Given the description of an element on the screen output the (x, y) to click on. 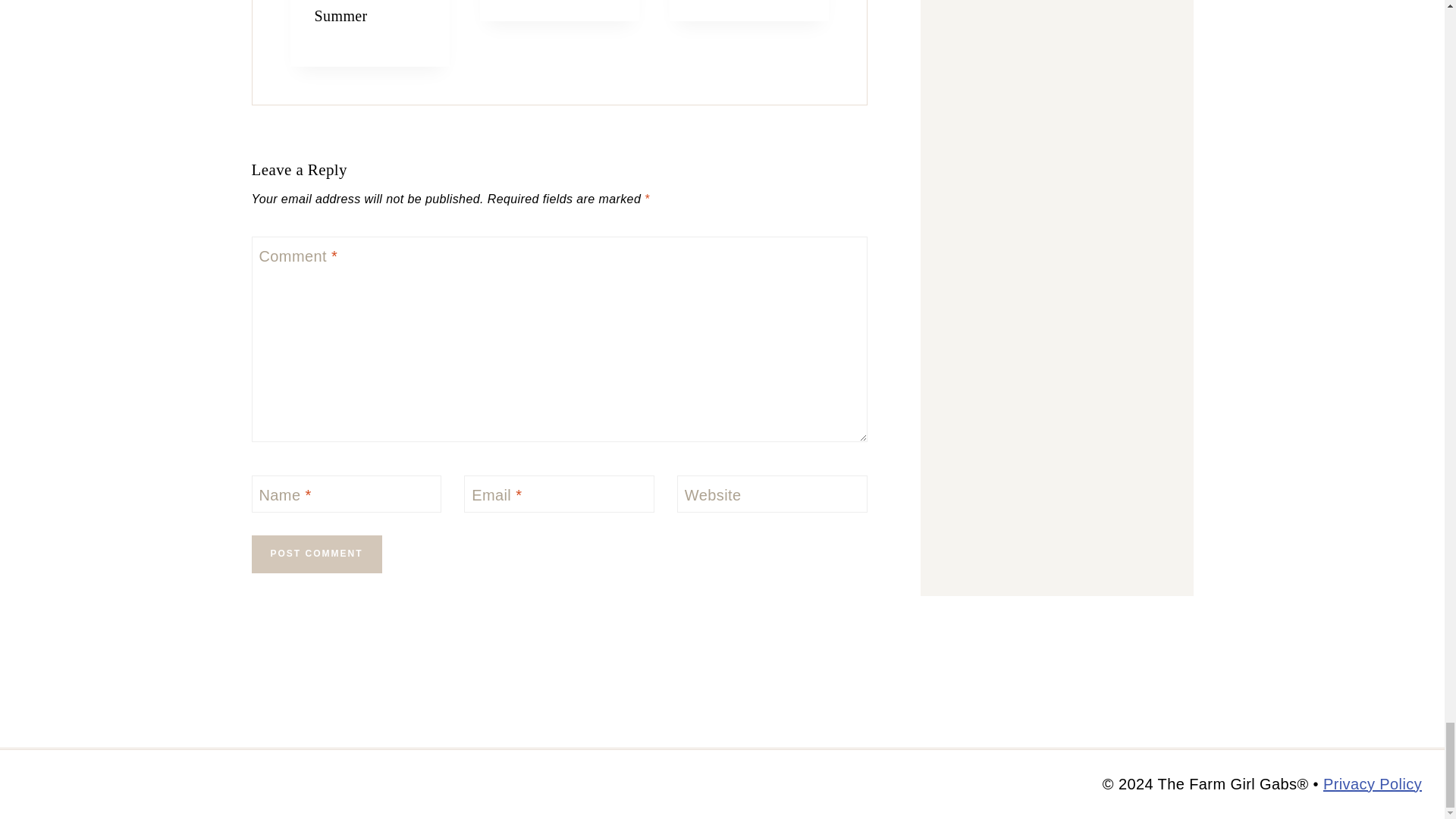
Post Comment (316, 553)
